Given the description of an element on the screen output the (x, y) to click on. 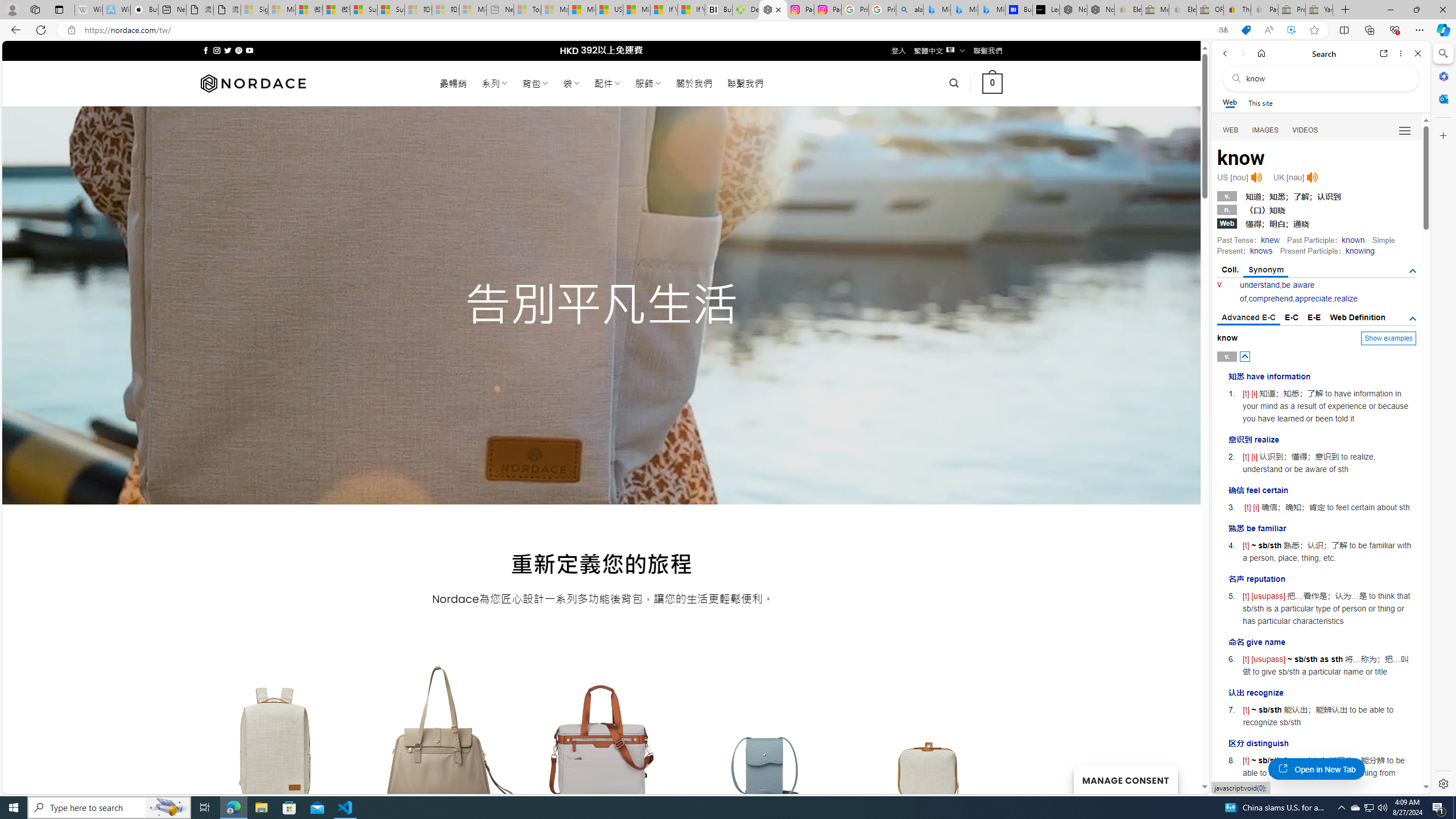
Sign in to your Microsoft account - Sleeping (254, 9)
 0  (992, 83)
Payments Terms of Use | eBay.com - Sleeping (1264, 9)
Press Room - eBay Inc. - Sleeping (1292, 9)
appreciate (1313, 298)
knew (1269, 239)
This site has coupons! Shopping in Microsoft Edge (1245, 29)
